Given the description of an element on the screen output the (x, y) to click on. 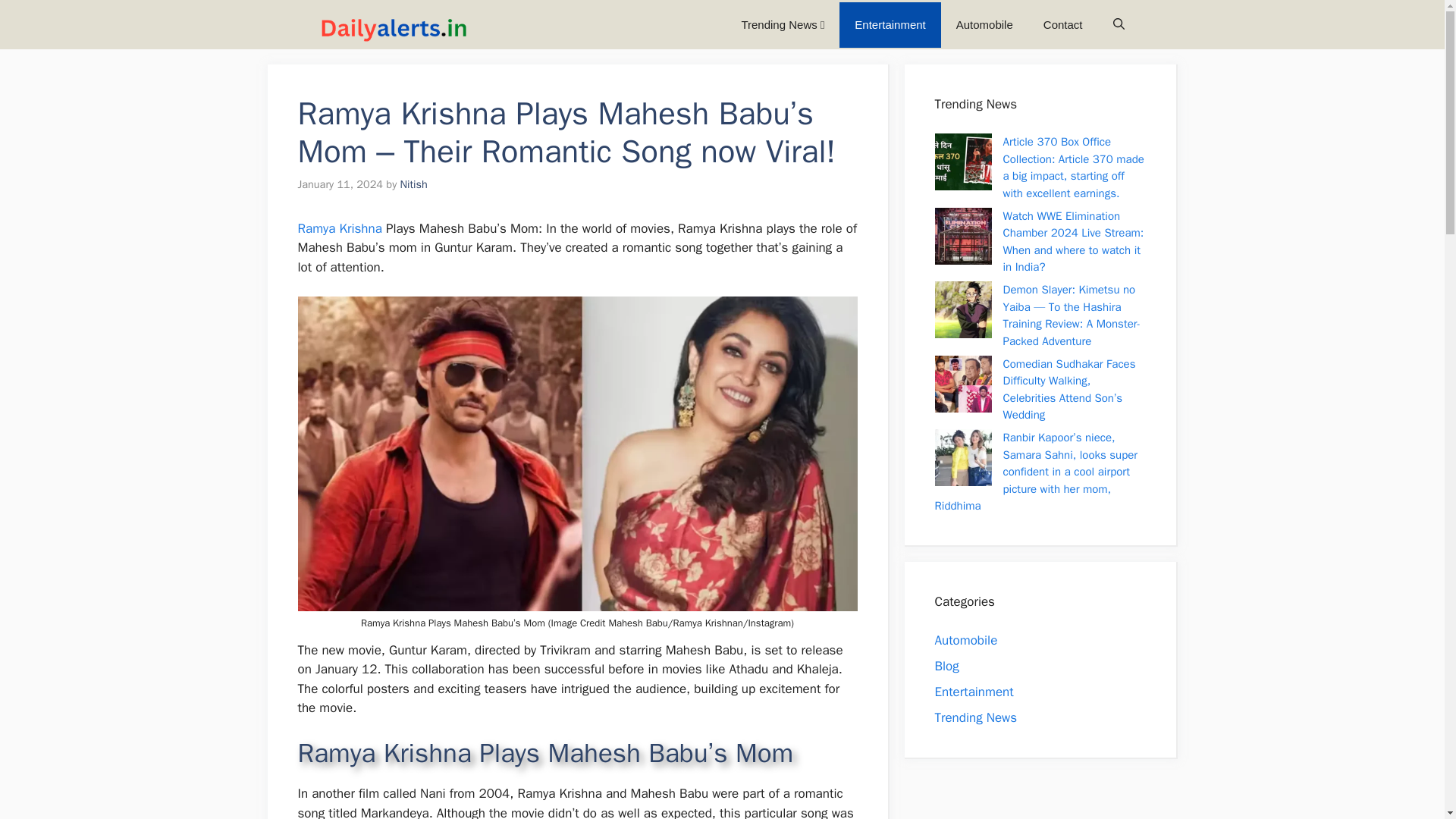
Entertainment (973, 691)
Nitish (414, 183)
Trending News (975, 717)
Automobile (983, 23)
Blog (946, 666)
Ramya Krishna (339, 228)
Automobile (965, 640)
View all posts by Nitish (414, 183)
Contact (1062, 23)
Entertainment (890, 23)
